Given the description of an element on the screen output the (x, y) to click on. 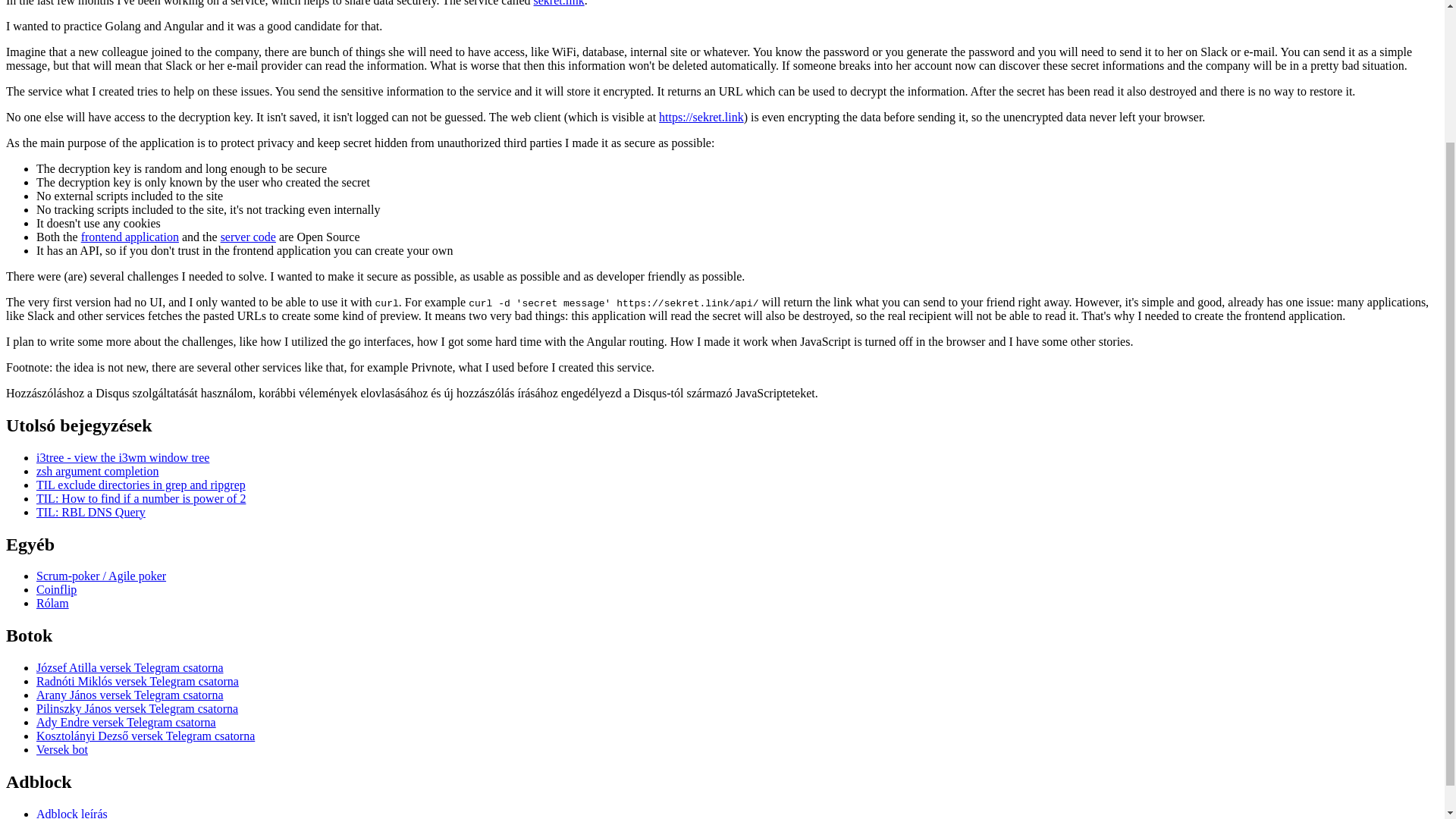
frontend application (130, 236)
Coinflip (56, 589)
Ady Endre versek Telegram csatorna (125, 721)
i3tree - view the i3wm window tree (122, 457)
TIL: RBL DNS Query (90, 512)
TIL: How to find if a number is power of 2 (141, 498)
Versek bot (61, 748)
TIL exclude directories in grep and ripgrep (141, 484)
zsh argument completion (97, 471)
sekret.link (559, 3)
server code (248, 236)
